Given the description of an element on the screen output the (x, y) to click on. 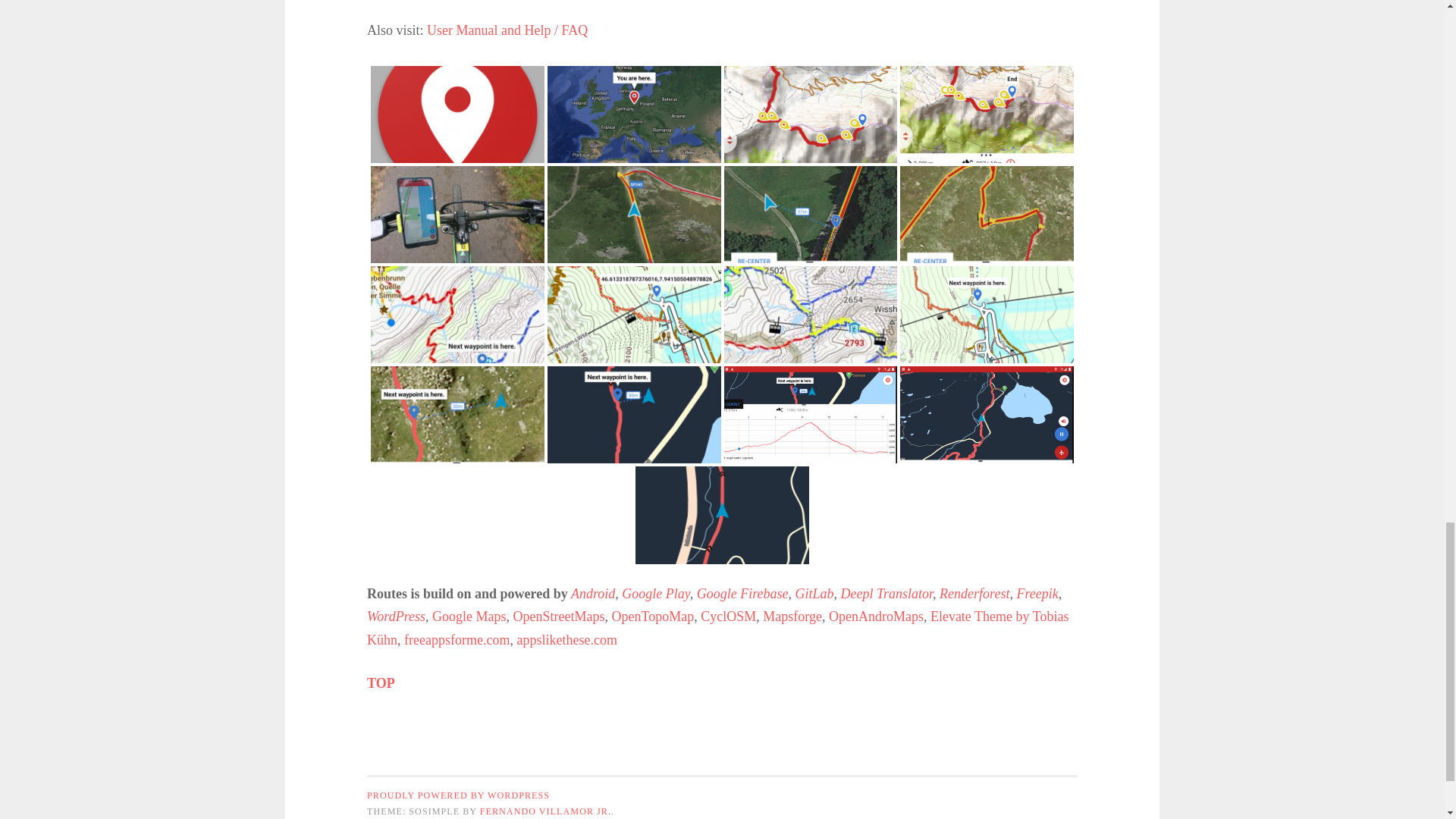
Screenshot 1584694502 (457, 414)
Screenshot 1591818569 (986, 314)
Screenshot 1598450672 (986, 214)
Screenshot 1591817446 (633, 314)
Screenshot 20200614 095421 de.flosdorf.routenavigation (809, 315)
 Android (591, 592)
Screenshot 20200614 095557 de.flosdorf.routenavigation (457, 315)
Screenshot 1614598967 (809, 135)
Deepl Translator (887, 592)
Google Firebase (743, 592)
Google Play (654, 592)
Renderforest (974, 592)
Freepik (1037, 592)
GitLab (814, 592)
Screenshot 1598449891 (809, 214)
